Given the description of an element on the screen output the (x, y) to click on. 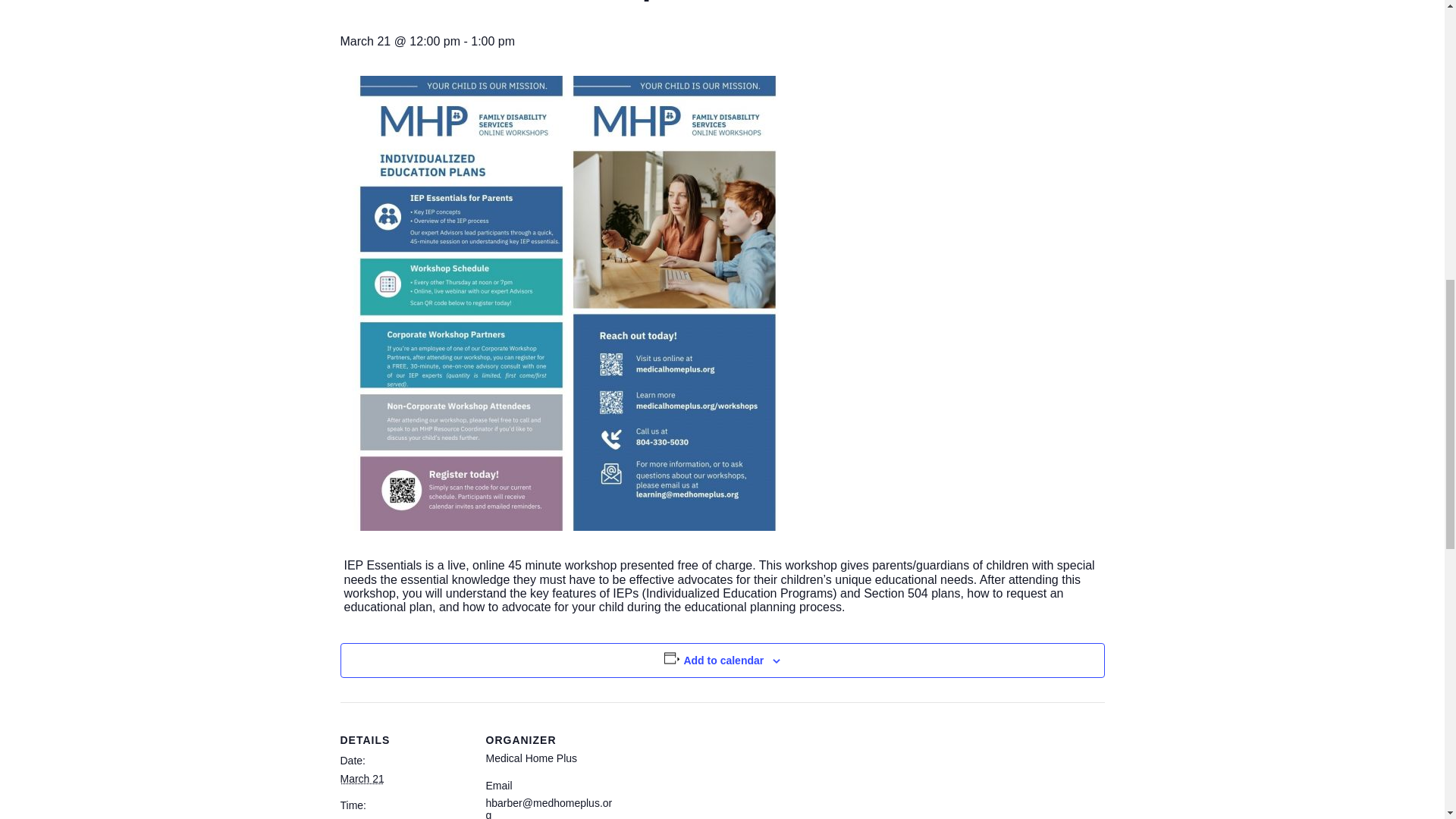
Add to calendar (722, 660)
2024-03-21 (403, 818)
2024-03-21 (361, 778)
